Given the description of an element on the screen output the (x, y) to click on. 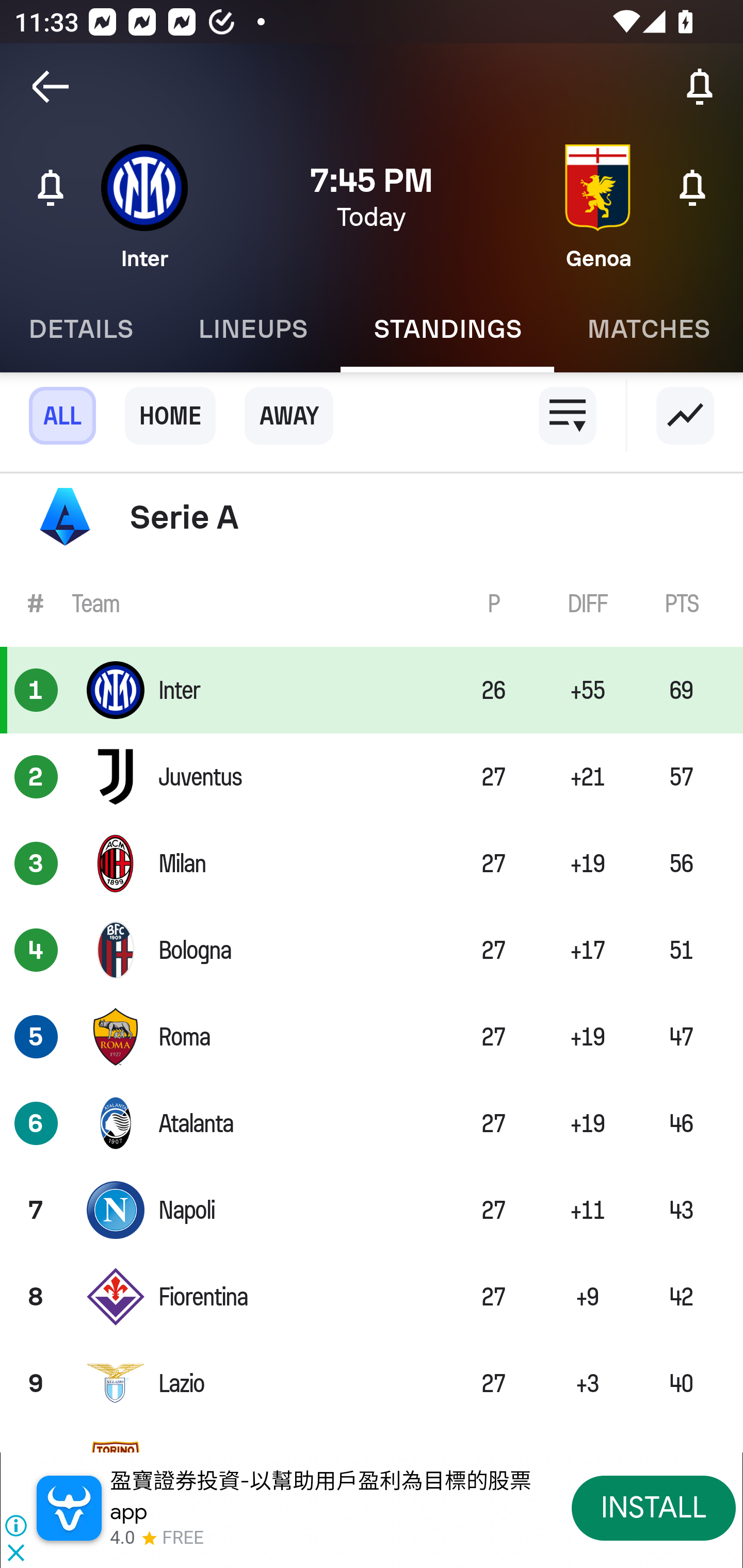
Navigate up (50, 86)
Details DETAILS (82, 329)
Lineups LINEUPS (252, 329)
Matches MATCHES (648, 329)
ALL (62, 416)
HOME (170, 416)
AWAY (288, 416)
Serie A (371, 516)
# Team P DIFF PTS (371, 602)
1 Inter 26 +55 69 (371, 689)
1 (36, 689)
2 Juventus 27 +21 57 (371, 776)
2 (36, 776)
3 Milan 27 +19 56 (371, 863)
3 (36, 863)
4 Bologna 27 +17 51 (371, 950)
4 (36, 950)
5 Roma 27 +19 47 (371, 1037)
5 (36, 1037)
6 Atalanta 27 +19 46 (371, 1123)
6 (36, 1123)
7 Napoli 27 +11 43 (371, 1209)
7 (36, 1209)
8 Fiorentina 27 +9 42 (371, 1296)
8 (36, 1296)
9 Lazio 27 +3 40 (371, 1383)
9 (36, 1383)
盈寶證券投資-以幫助用戶盈利為目標的股票 app 盈寶證券投資-以幫助用戶盈利為目標的股票 app (320, 1496)
INSTALL (654, 1507)
